Given the description of an element on the screen output the (x, y) to click on. 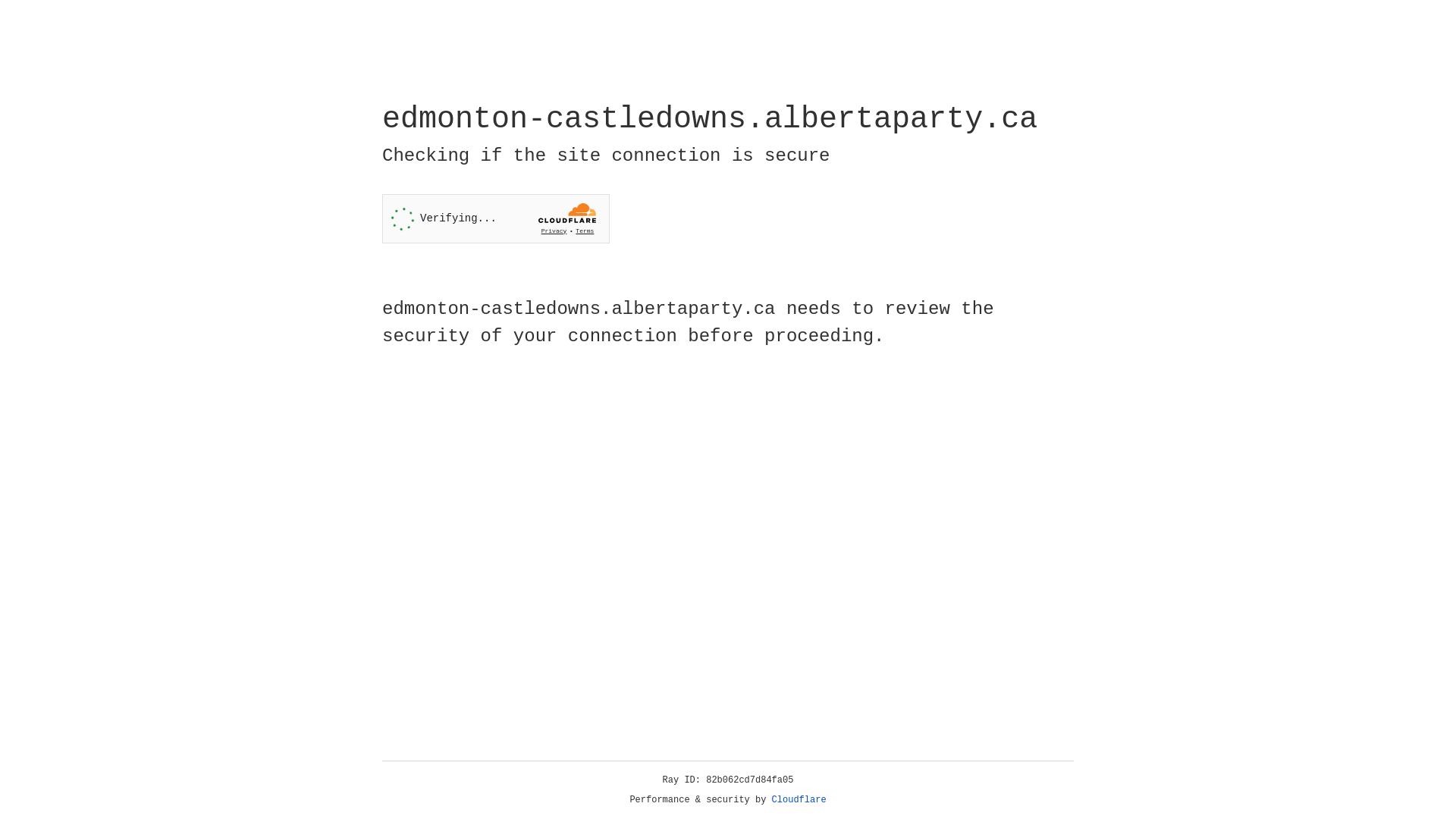
Cloudflare Element type: text (798, 799)
Widget containing a Cloudflare security challenge Element type: hover (495, 218)
